Given the description of an element on the screen output the (x, y) to click on. 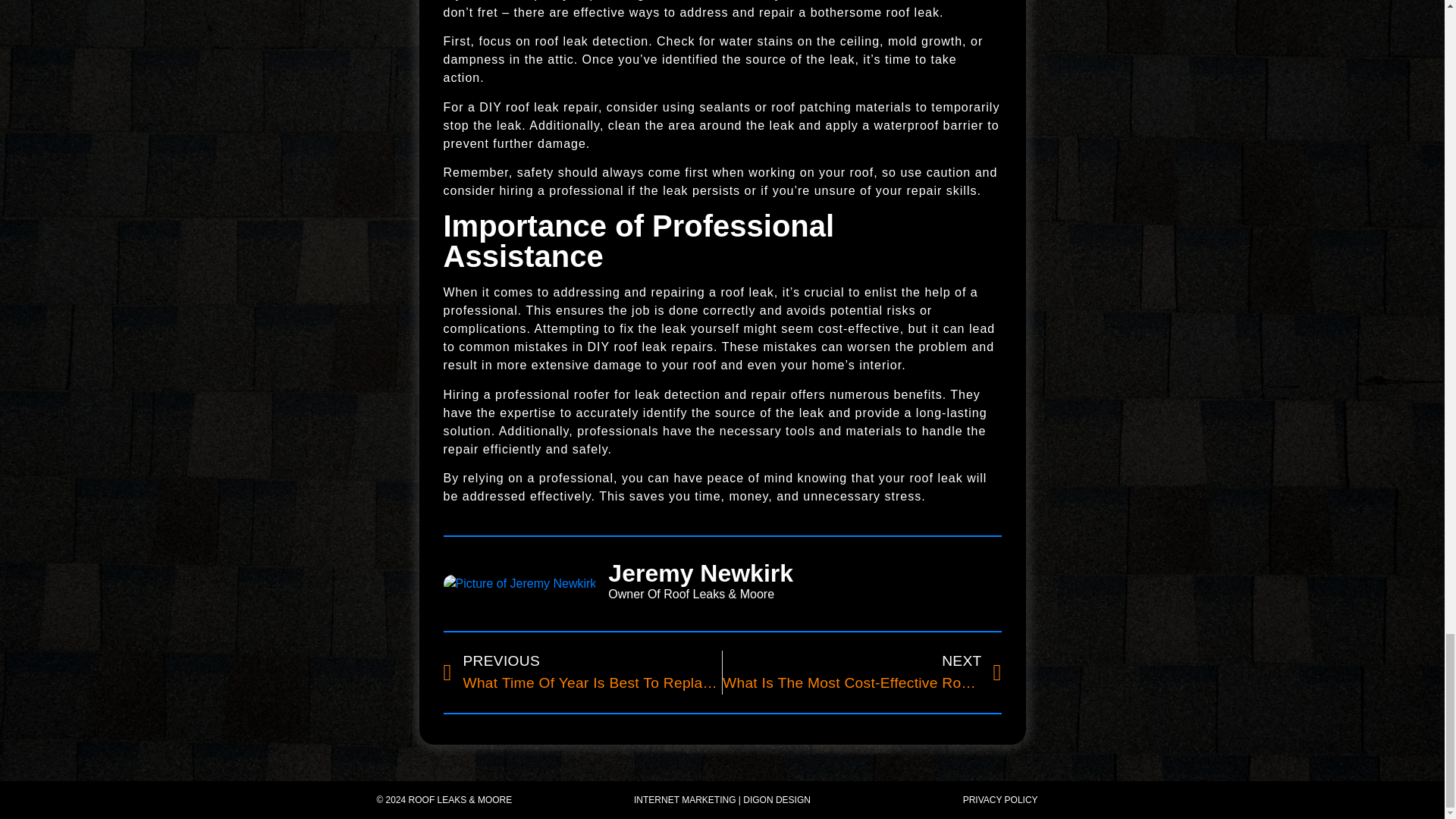
PRIVACY POLICY (861, 672)
Jeremy Newkirk (582, 672)
